Given the description of an element on the screen output the (x, y) to click on. 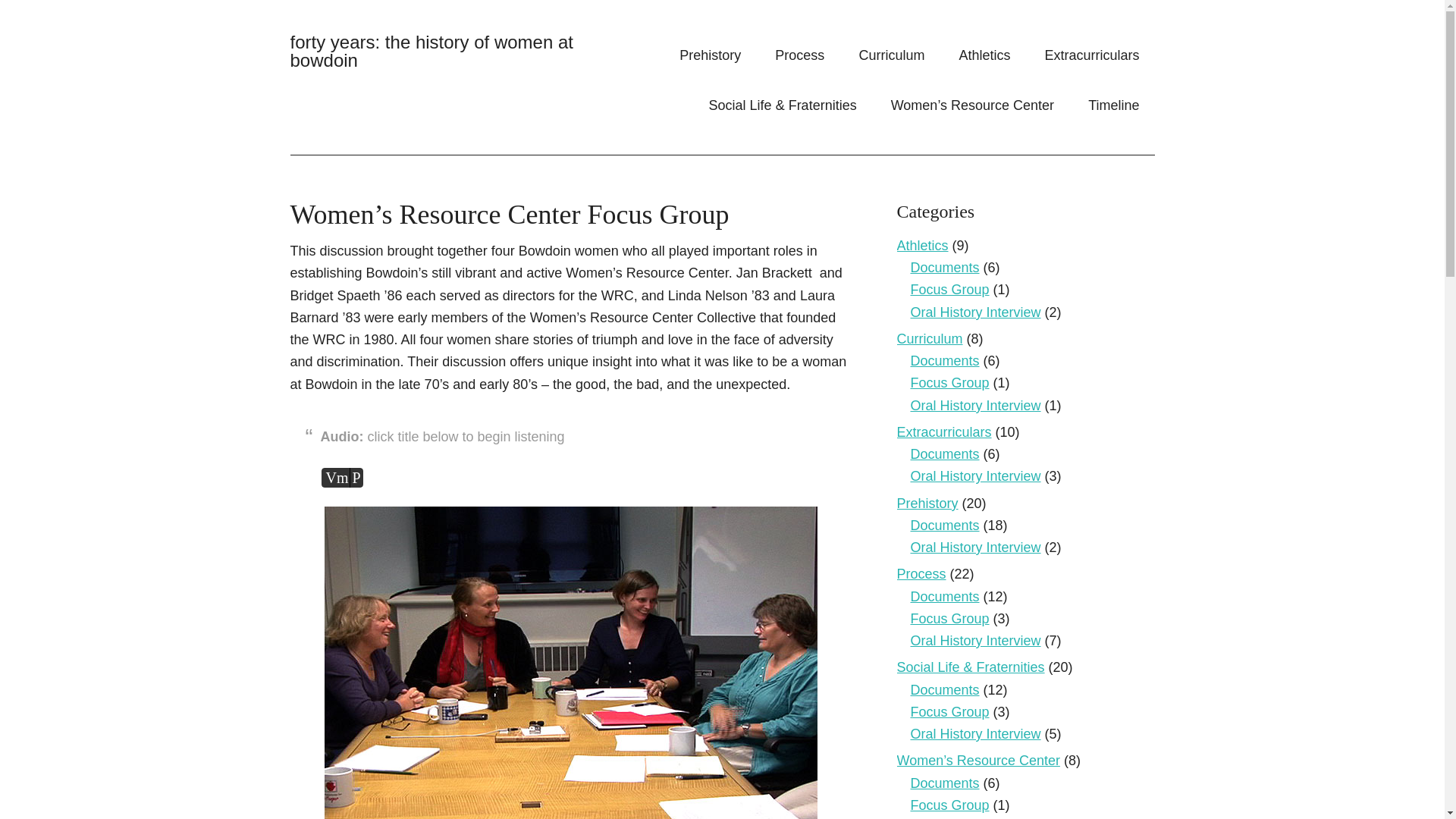
Prehistory (709, 55)
forty years: the history of women at bowdoin (431, 50)
Curriculum (891, 55)
Extracurriculars (1091, 55)
Process (800, 55)
Athletics (984, 55)
Timeline (1113, 105)
